Given the description of an element on the screen output the (x, y) to click on. 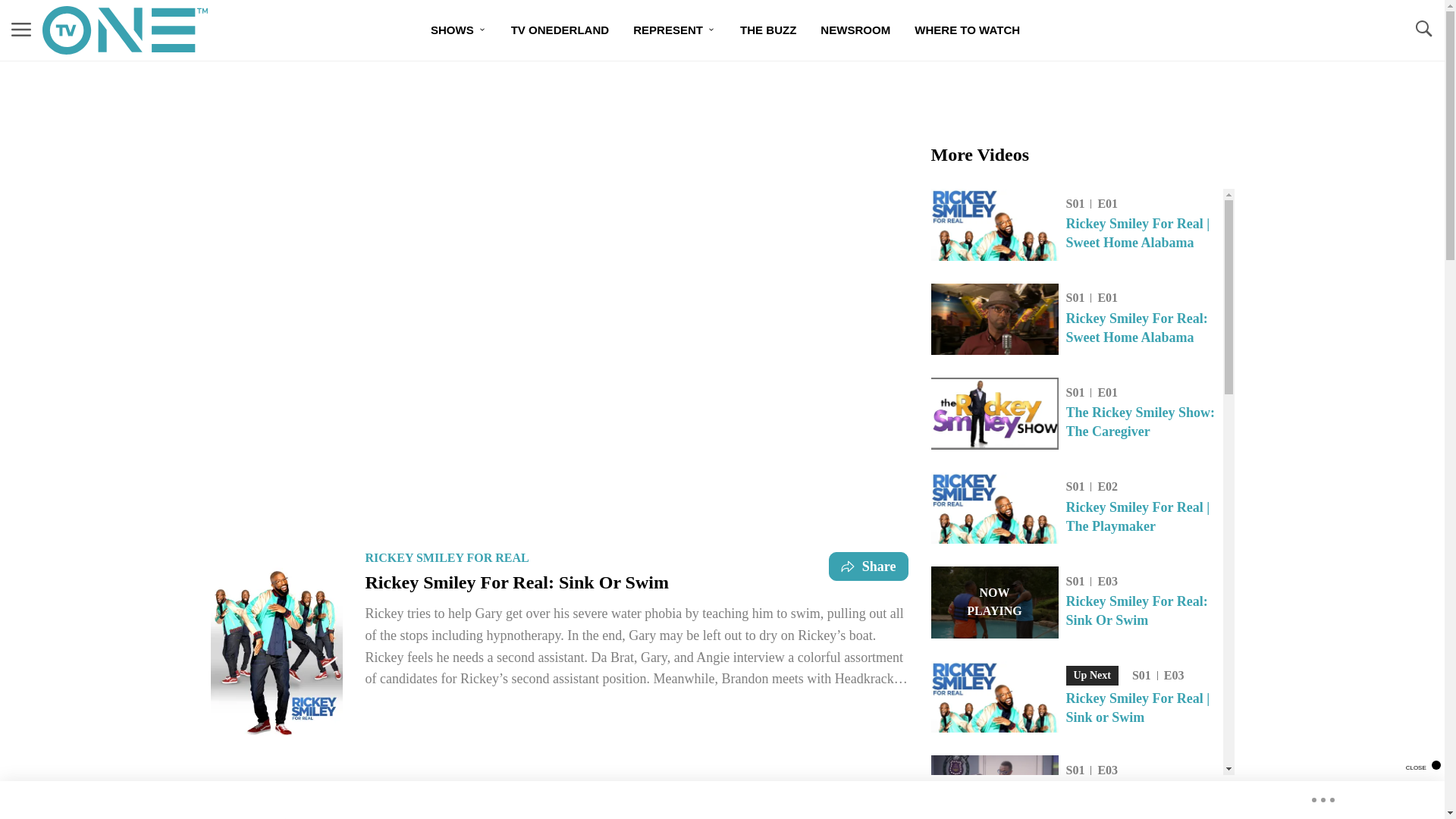
RICKEY SMILEY FOR REAL (447, 556)
WHERE TO WATCH (967, 30)
Rickey Smiley For Real: Sweet Home Alabama (1144, 328)
TV ONEDERLAND (560, 30)
MENU (20, 30)
THE BUZZ (768, 30)
Share (868, 566)
REPRESENT (674, 30)
The Rickey Smiley Show: The Caregiver (1144, 422)
SHOWS (459, 30)
